Given the description of an element on the screen output the (x, y) to click on. 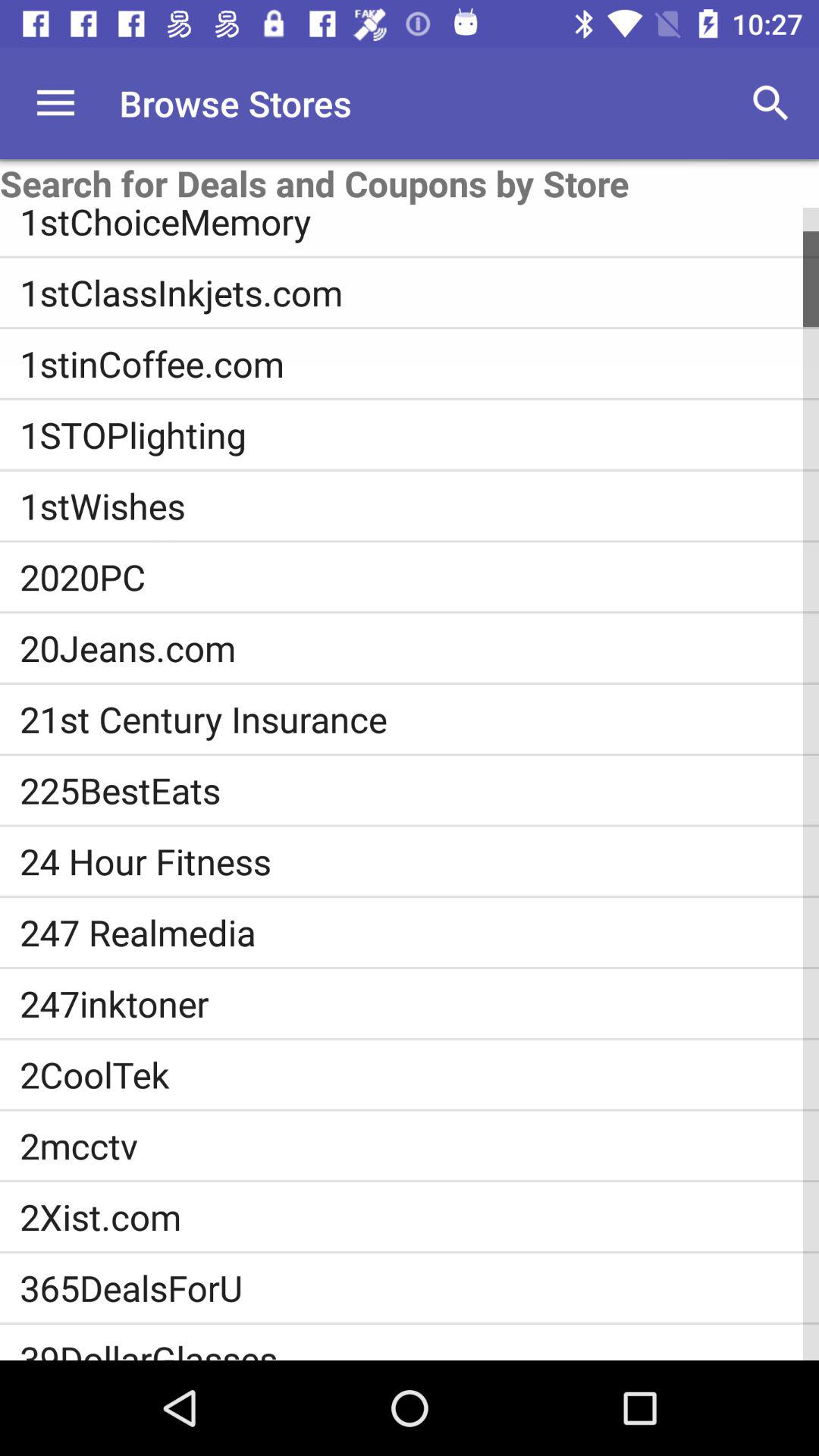
turn on app to the left of browse stores icon (55, 103)
